Given the description of an element on the screen output the (x, y) to click on. 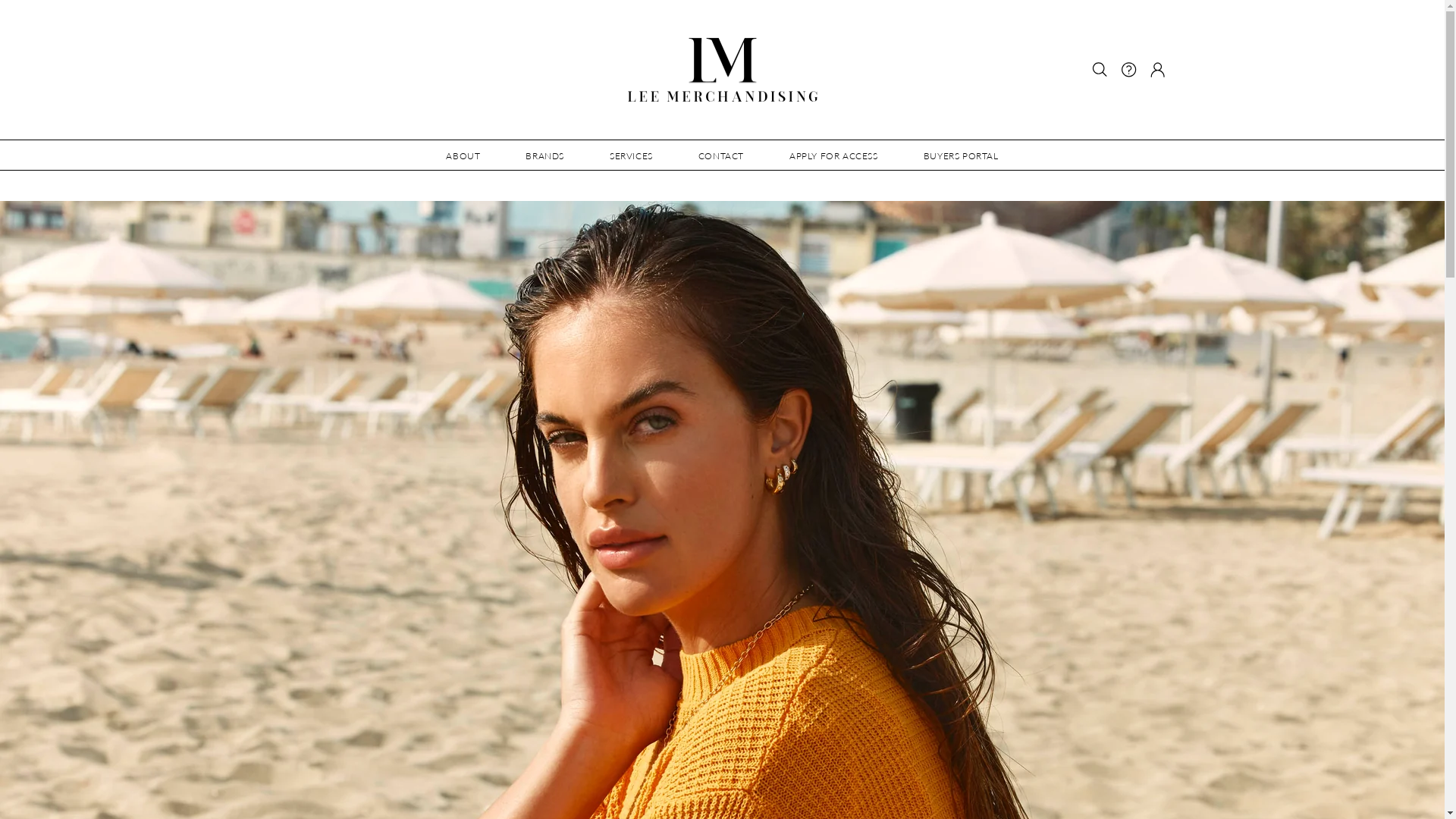
BRANDS Element type: text (544, 155)
Designed by One Avenue Studio Element type: text (561, 799)
SERVICES Element type: text (630, 155)
CONTACT Element type: text (720, 155)
ABOUT Element type: text (462, 155)
LEE MERCHANDISING AGENCY Element type: text (422, 799)
LEE MERCHANDISING AGENCY Element type: text (722, 69)
APPLY FOR ACCESS Element type: text (833, 155)
BUYERS PORTAL Element type: text (960, 155)
